Given the description of an element on the screen output the (x, y) to click on. 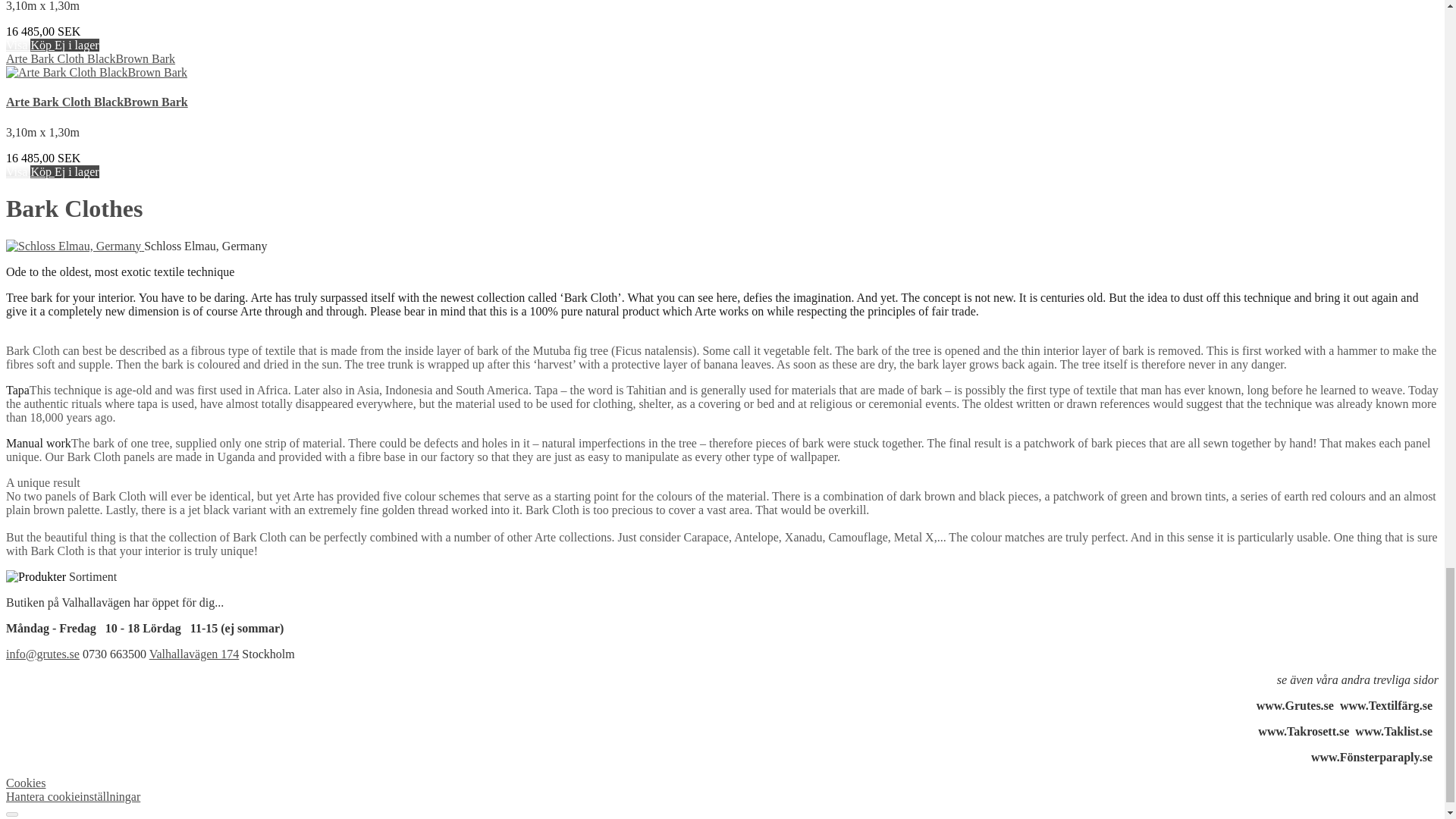
Arte Bark Cloth BlackBrown Bark (96, 72)
Arte Bark Cloth BlackBrown Bark (96, 101)
Produkter (35, 576)
Schloss Elmau, Germany (73, 246)
Arte Bark Cloth BlackBrown Bark (89, 58)
